Given the description of an element on the screen output the (x, y) to click on. 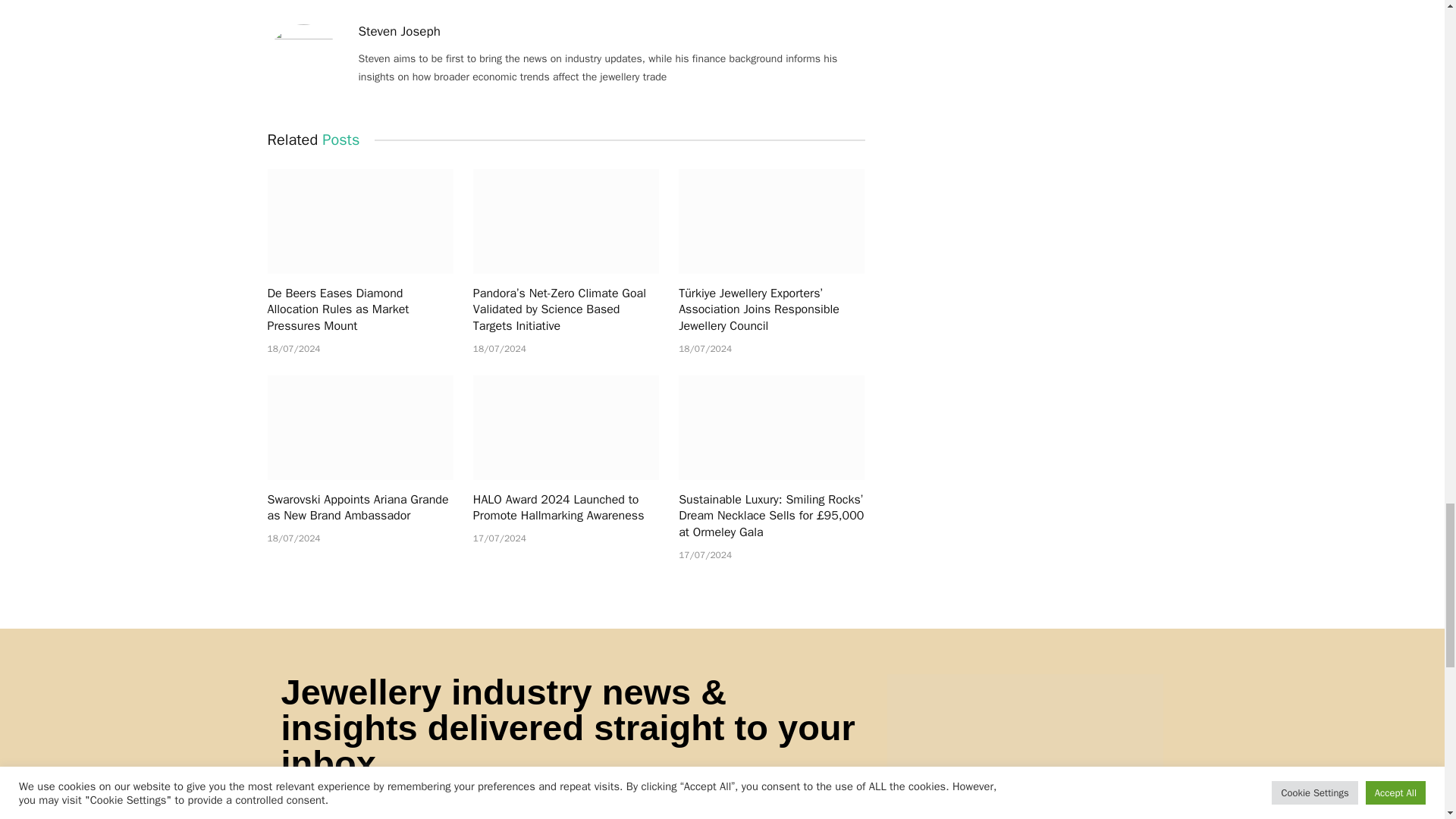
Steven Joseph (398, 31)
